Given the description of an element on the screen output the (x, y) to click on. 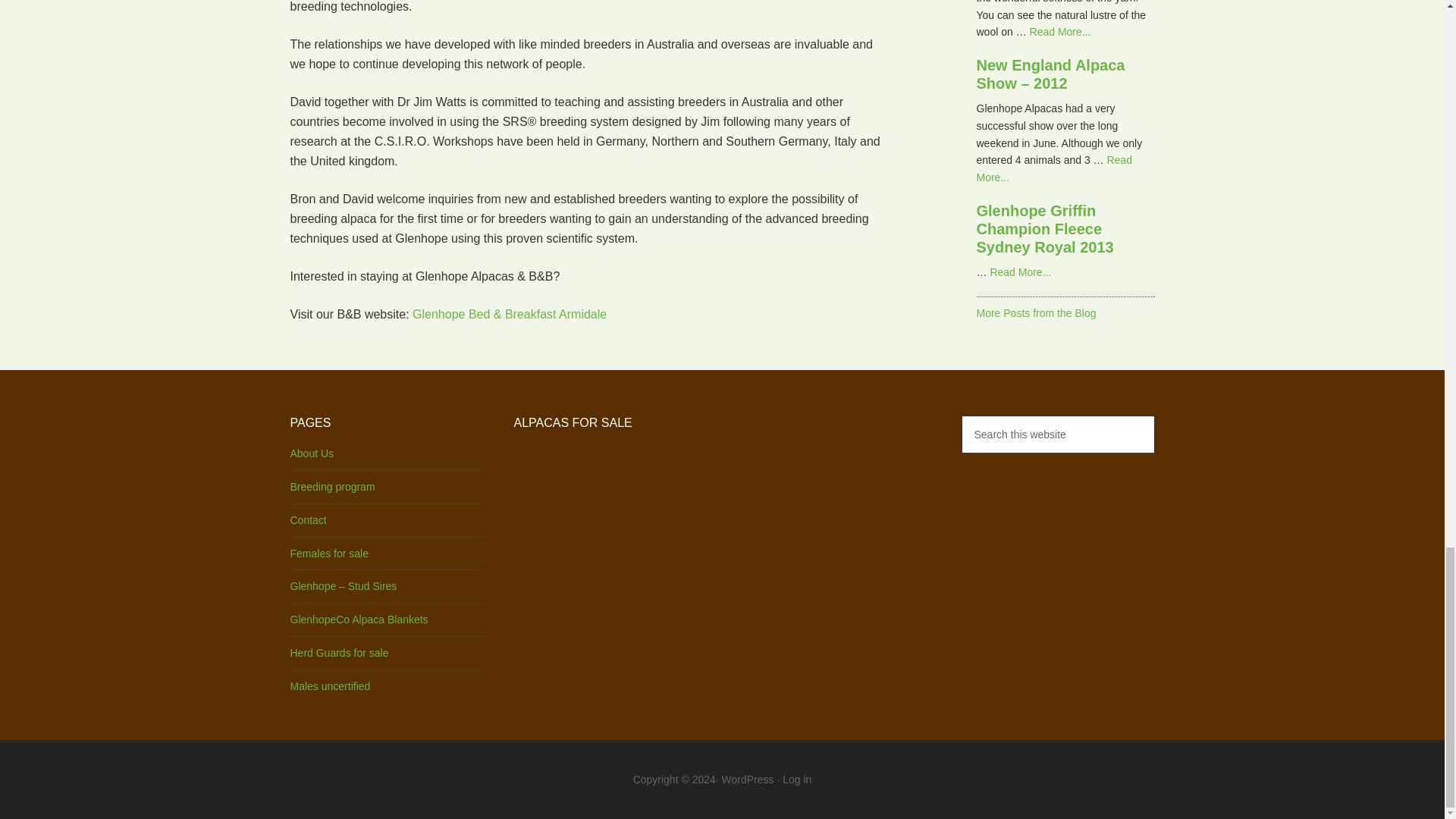
GlenhopeCo Alpaca Blankets (358, 619)
Males uncertified (329, 686)
More Posts from the Blog (1036, 313)
Females for sale (328, 553)
Glenhope Griffin Champion Fleece Sydney Royal 2013 (1044, 228)
Blog (1036, 313)
Read More... (1054, 168)
About Us (311, 453)
Log in (796, 779)
